Given the description of an element on the screen output the (x, y) to click on. 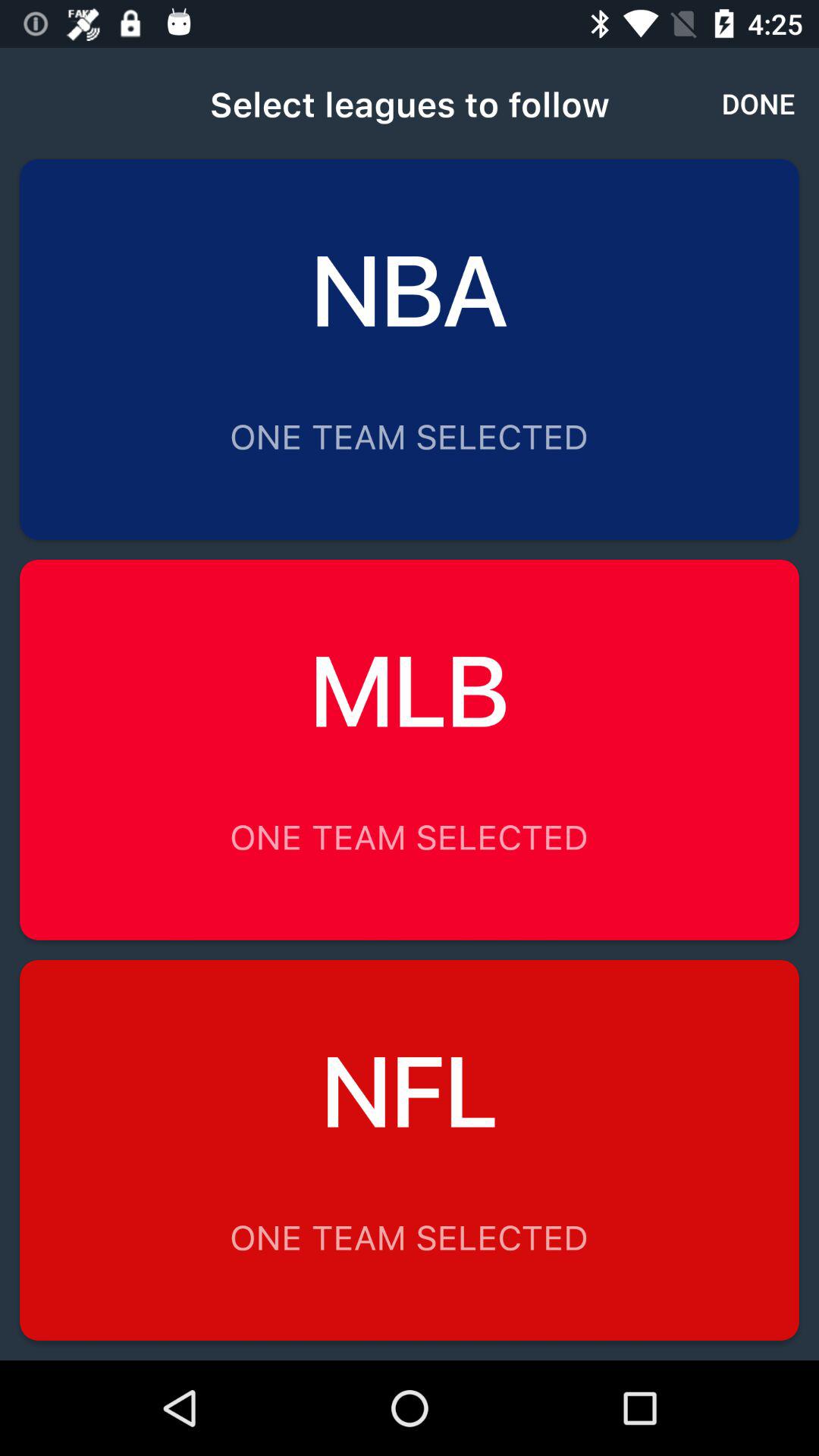
launch icon at the top right corner (758, 103)
